Given the description of an element on the screen output the (x, y) to click on. 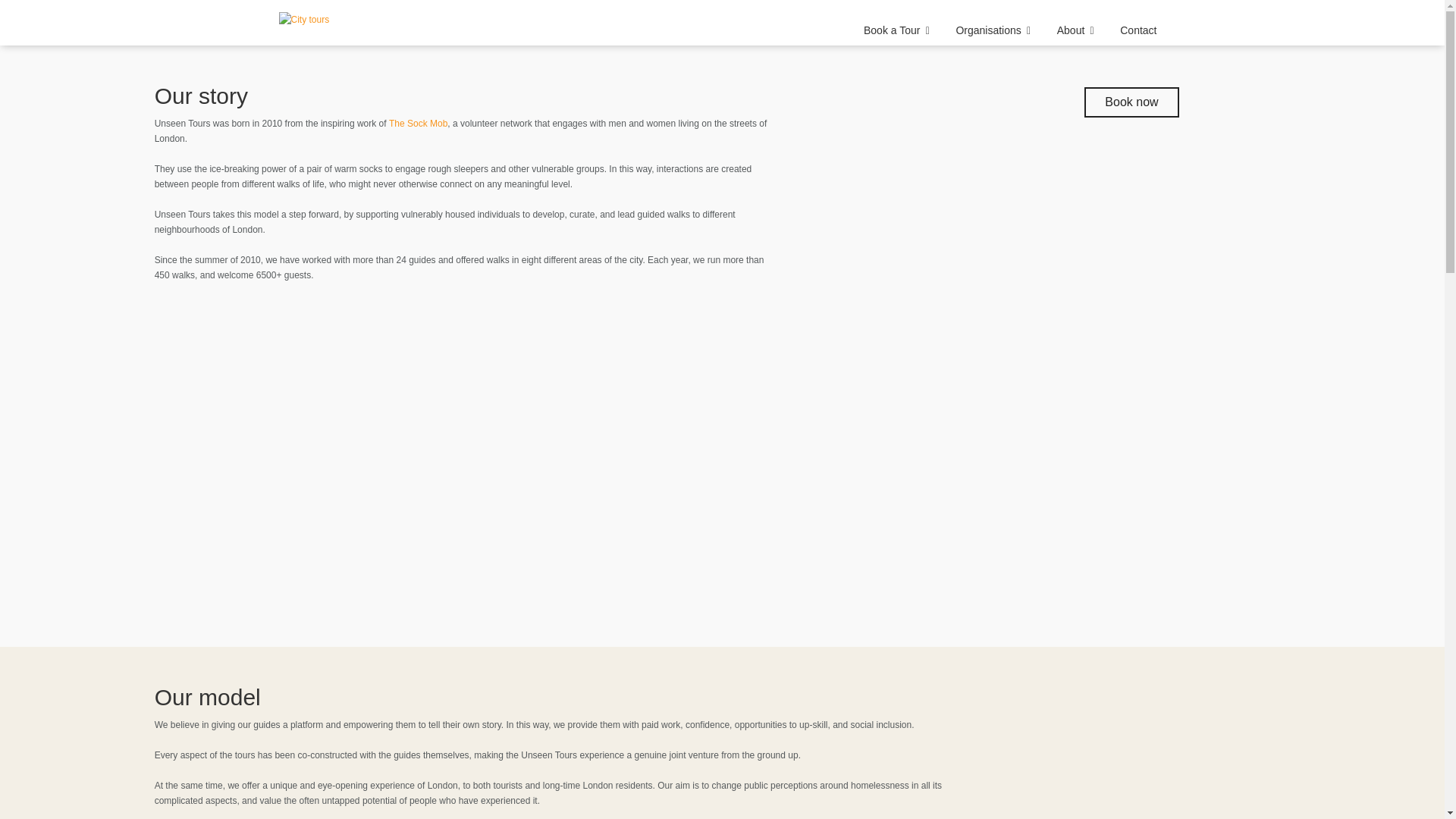
Book now (1130, 101)
About (1078, 33)
Book a Tour (898, 33)
Contact (1138, 33)
Organisations (995, 33)
The Sock Mob (417, 122)
